Given the description of an element on the screen output the (x, y) to click on. 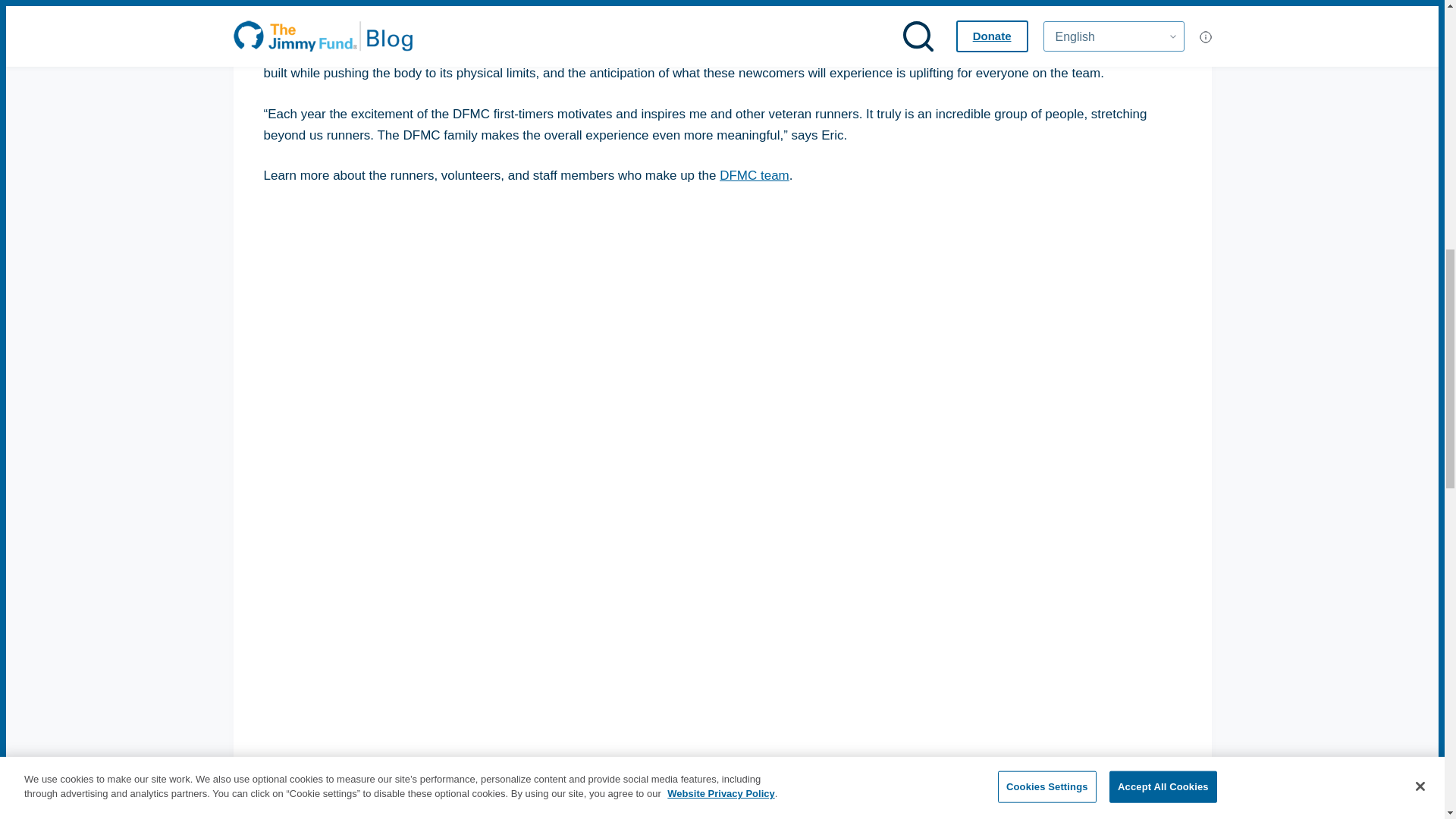
DFMC team (754, 175)
